Given the description of an element on the screen output the (x, y) to click on. 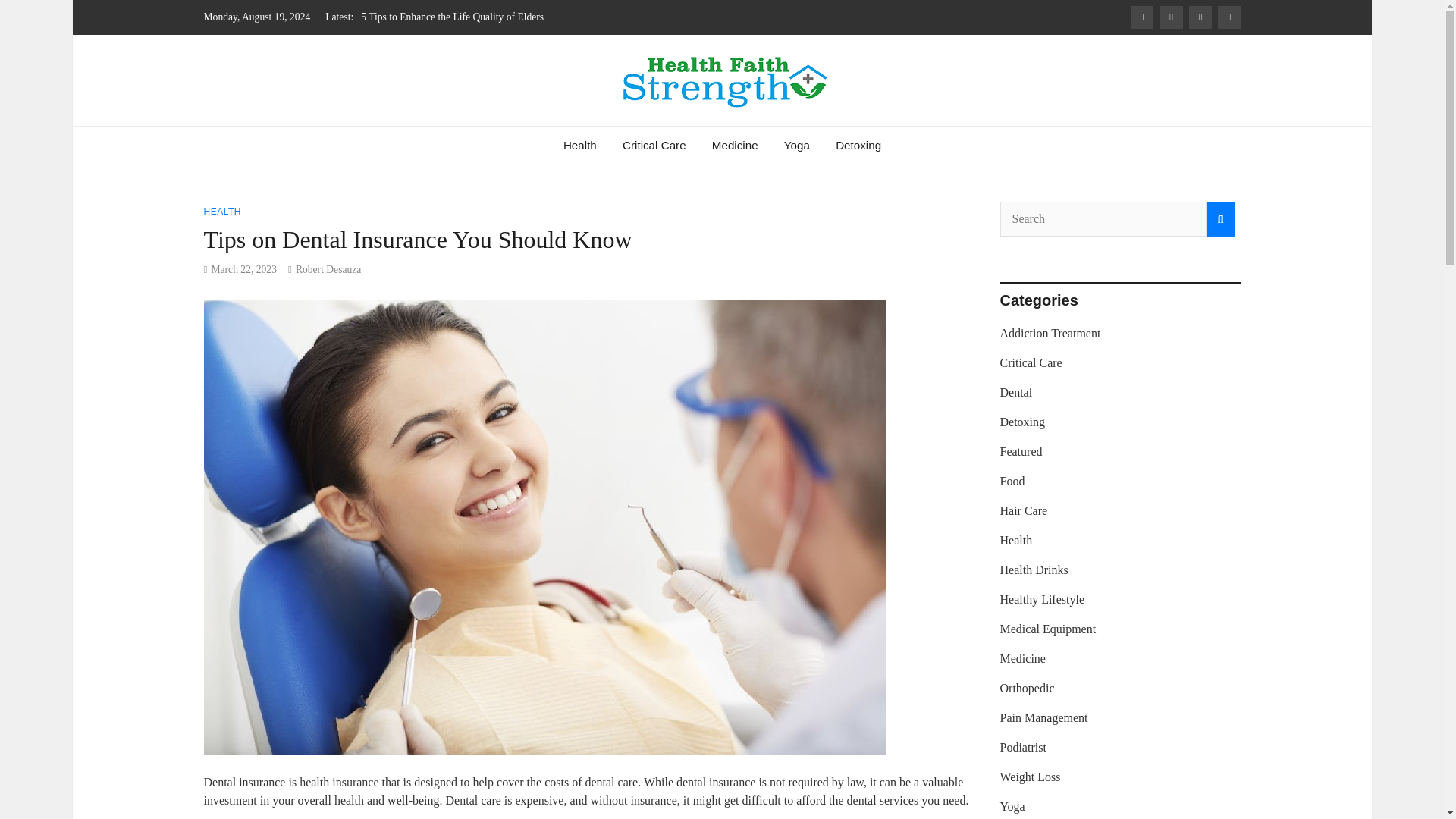
HEALTH (221, 211)
Critical Care (654, 145)
health faith strength (378, 132)
5 Tips to Enhance the Life Quality of Elders (452, 16)
Robert Desauza (328, 269)
Medicine (735, 145)
March 22, 2023 (243, 269)
5 Tips to Enhance the Life Quality of Elders (452, 16)
Yoga (797, 145)
Health (579, 145)
